Given the description of an element on the screen output the (x, y) to click on. 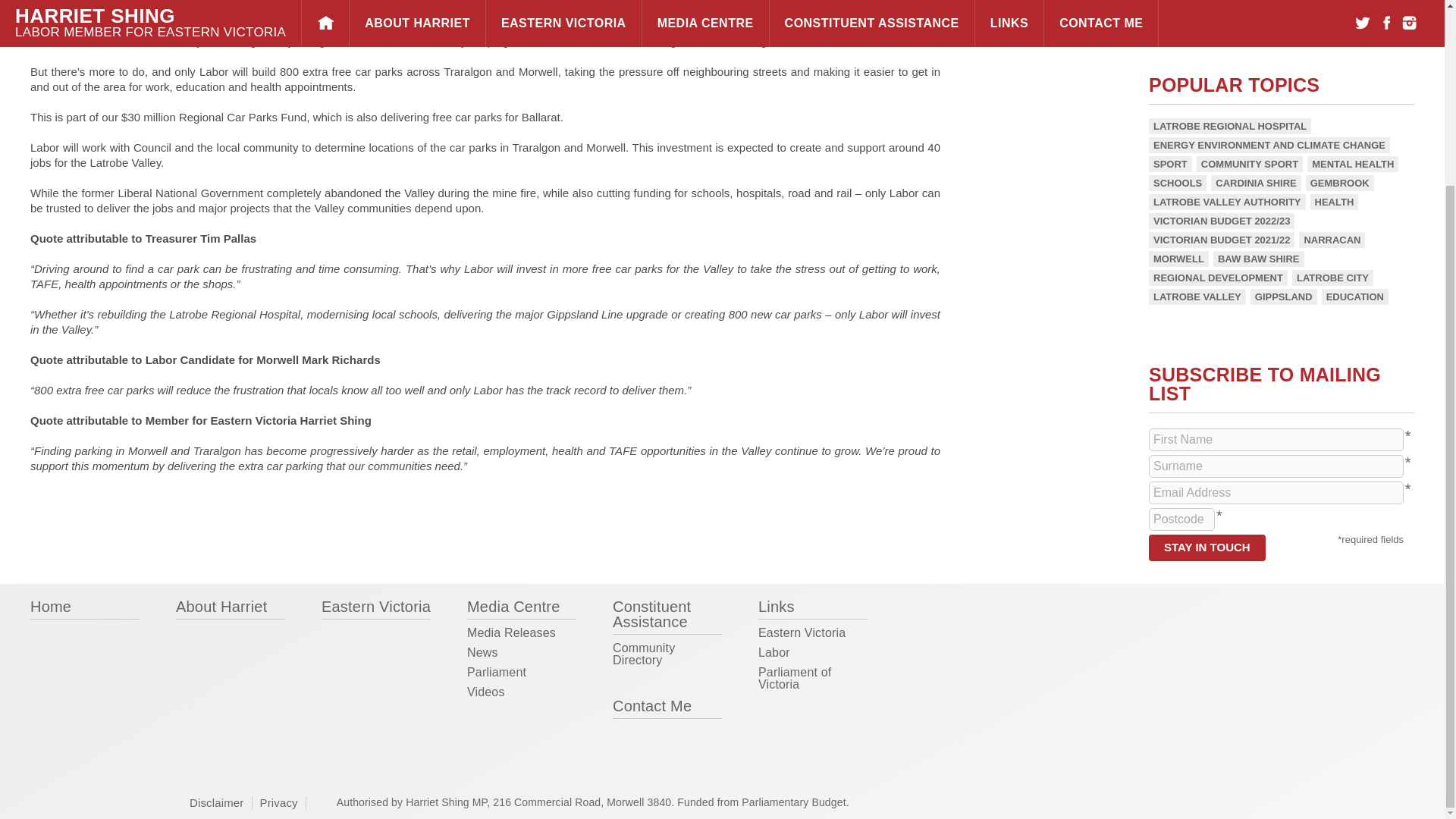
Postcode (1181, 518)
Email Address (1275, 492)
Surname (1275, 466)
First Name (1275, 439)
